Given the description of an element on the screen output the (x, y) to click on. 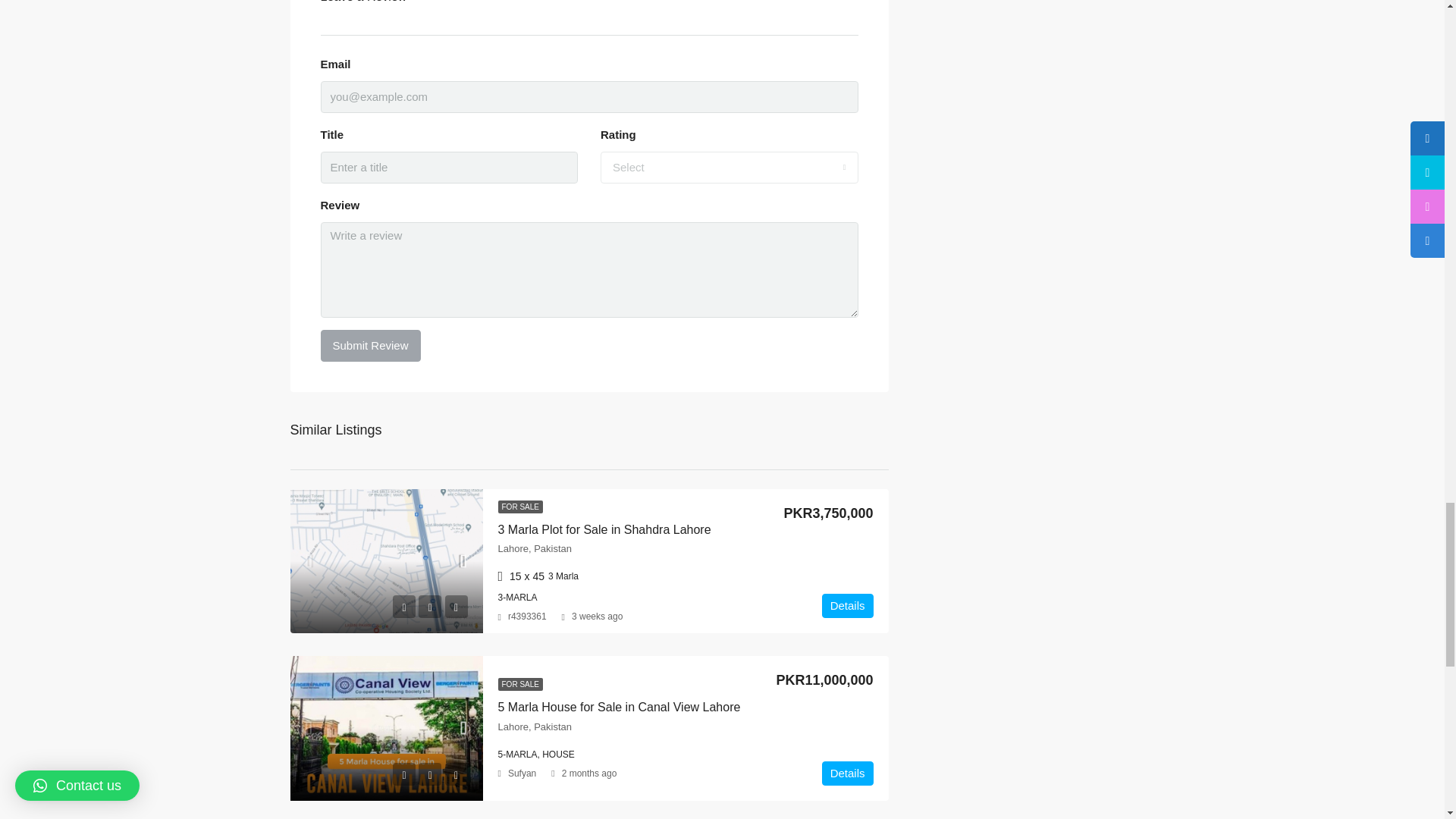
Select (729, 167)
